Given the description of an element on the screen output the (x, y) to click on. 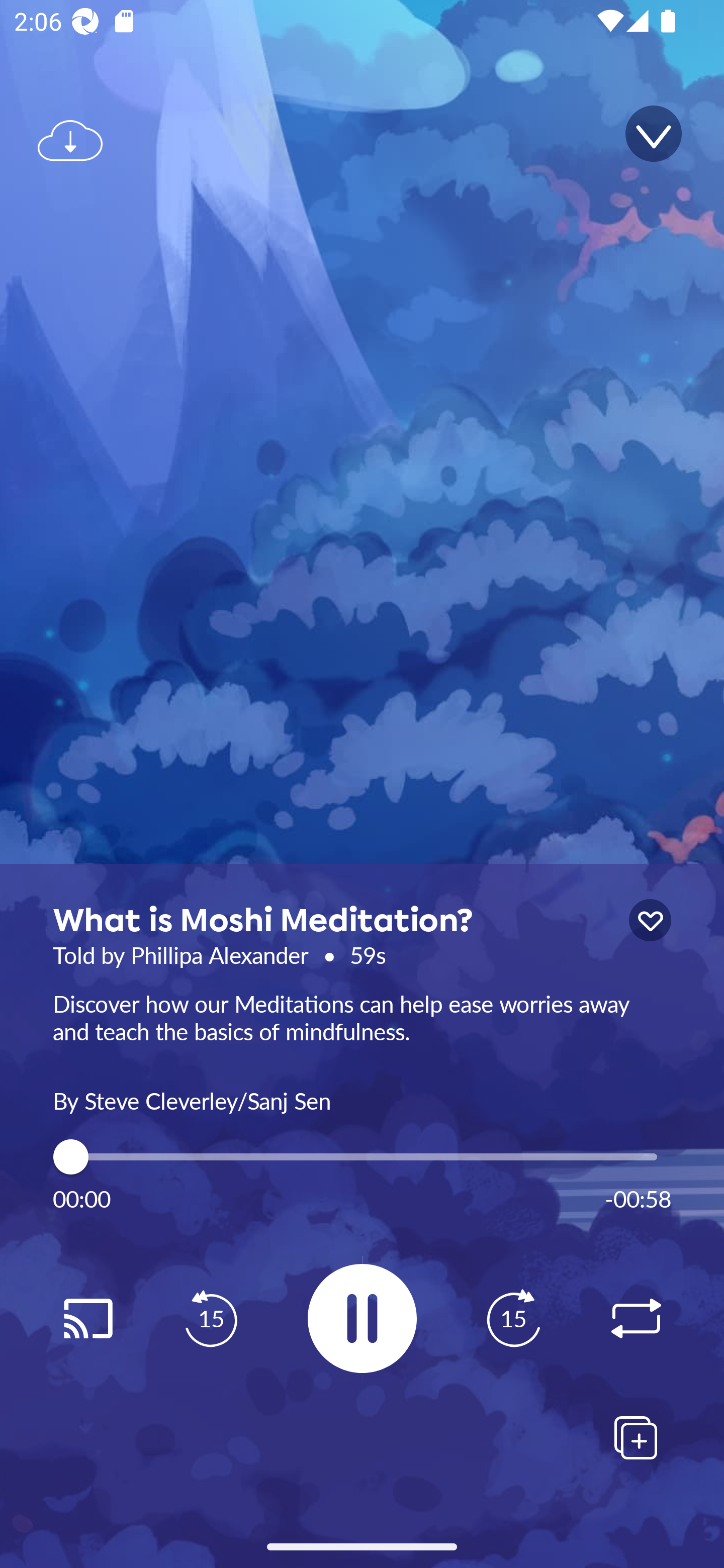
lock icon (650, 920)
By Steve Cleverley/Sanj Sen (361, 1098)
5.2542373E-4 Pause (361, 1317)
Replay (87, 1318)
Replay 15 (210, 1318)
Replay 15 (513, 1318)
Replay (635, 1318)
Add To Playlists (635, 1437)
